Given the description of an element on the screen output the (x, y) to click on. 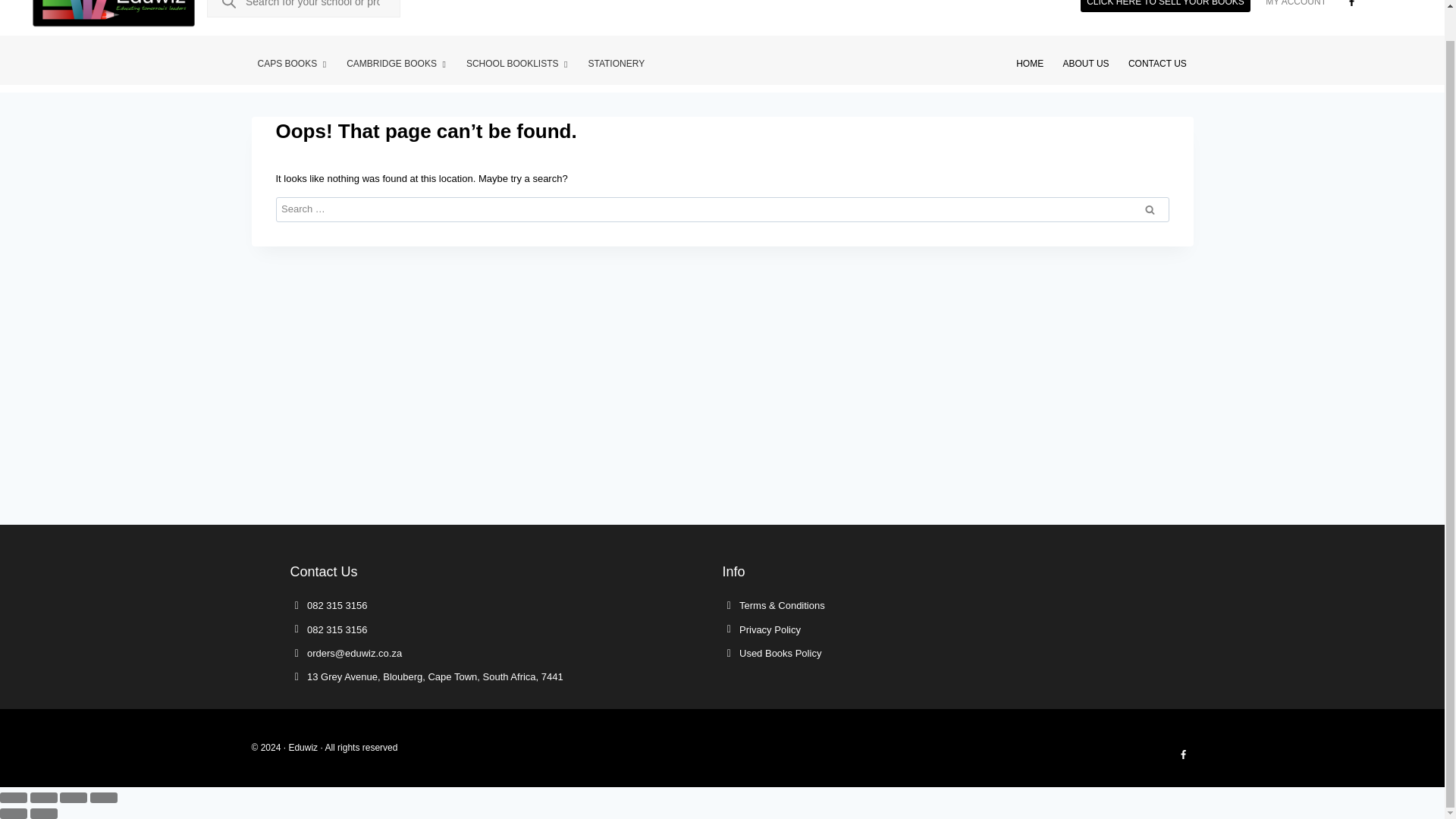
Search (1150, 209)
MY ACCOUNT (1295, 8)
CLICK HERE TO SELL YOUR BOOKS (1165, 5)
CAPS BOOKS (292, 63)
Search (1150, 209)
